Given the description of an element on the screen output the (x, y) to click on. 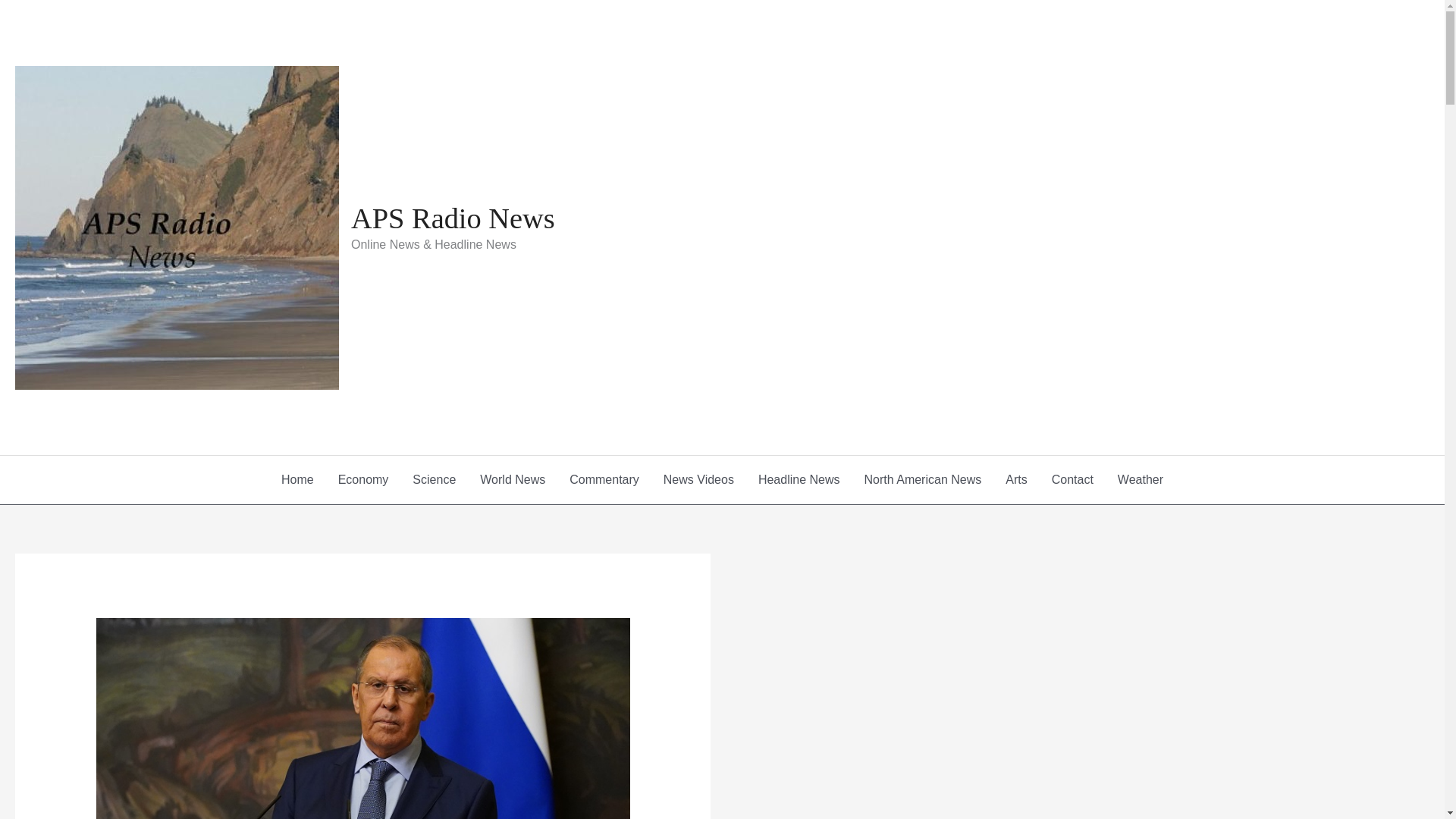
Commentary (603, 479)
Economy (363, 479)
APS Radio News (452, 218)
North American News (922, 479)
News Videos (697, 479)
Home (297, 479)
Arts (1015, 479)
Contact (1072, 479)
Science (433, 479)
World News (512, 479)
Weather (1139, 479)
Headline News (798, 479)
